Given the description of an element on the screen output the (x, y) to click on. 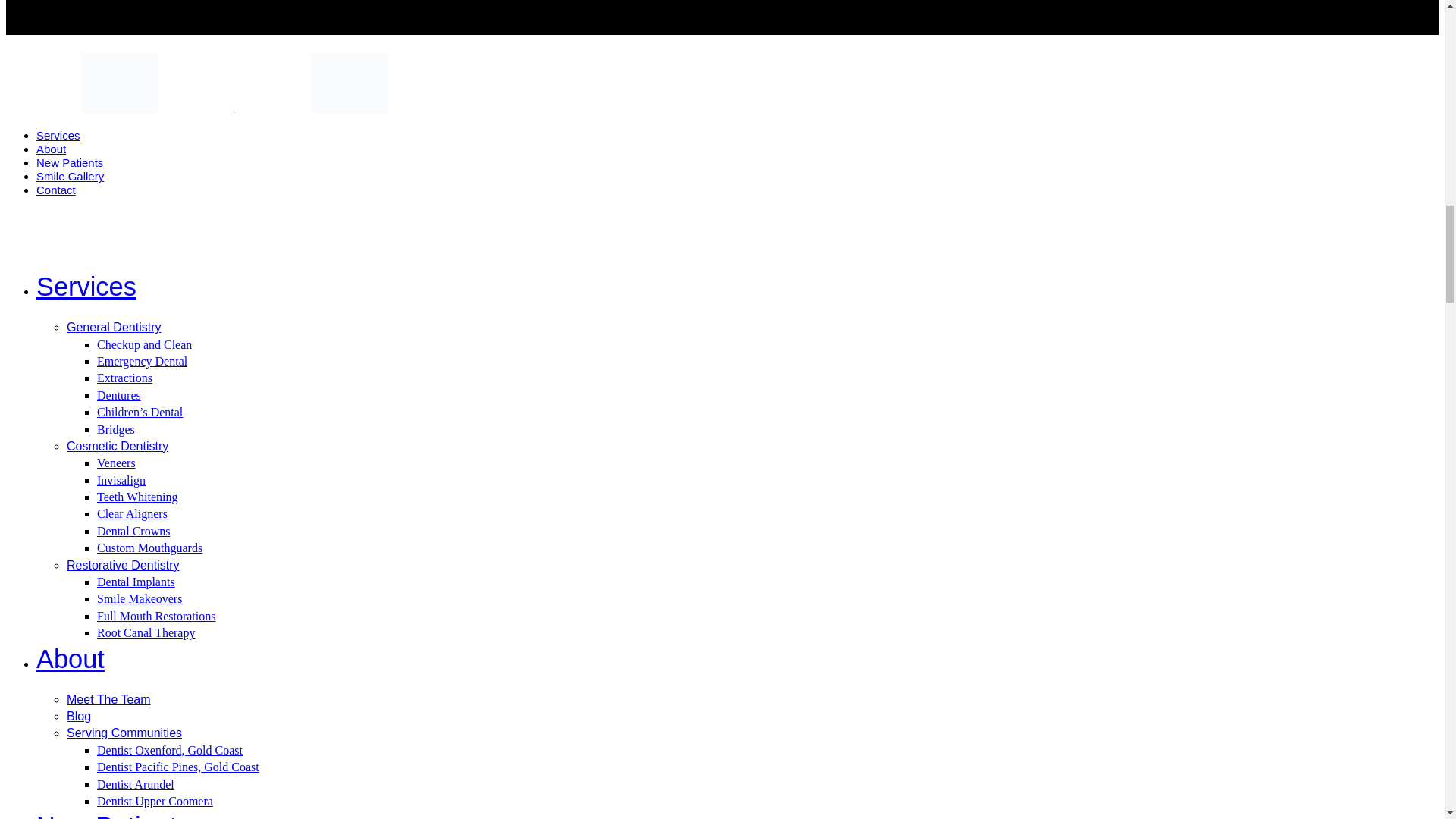
Smile Gallery (69, 175)
About (50, 148)
Services (58, 134)
Contact (55, 189)
New Patients (69, 162)
